Given the description of an element on the screen output the (x, y) to click on. 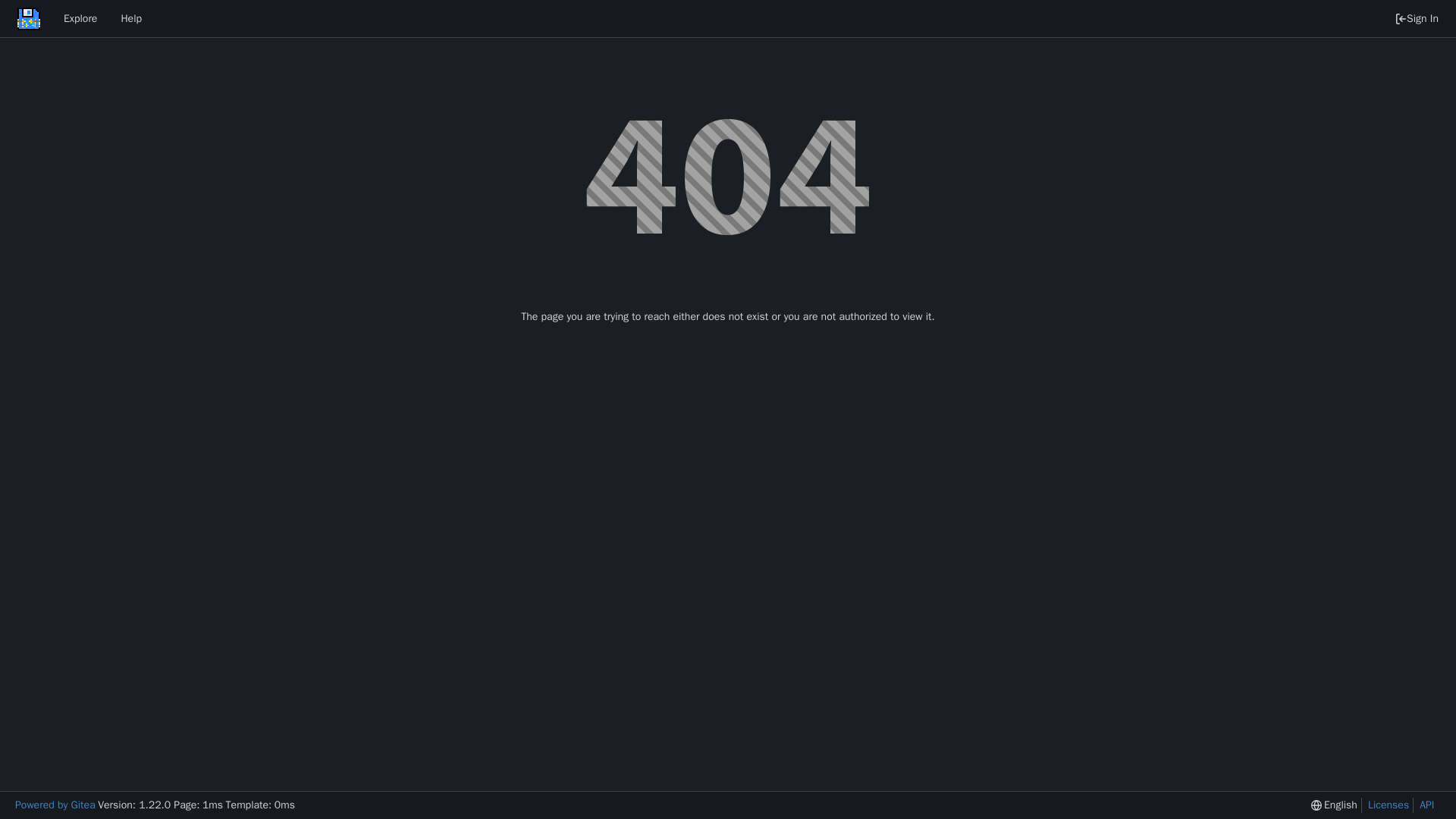
API (1423, 805)
Sign In (1416, 17)
Explore (79, 17)
Licenses (1385, 805)
Help (130, 17)
Powered by Gitea (55, 805)
